Given the description of an element on the screen output the (x, y) to click on. 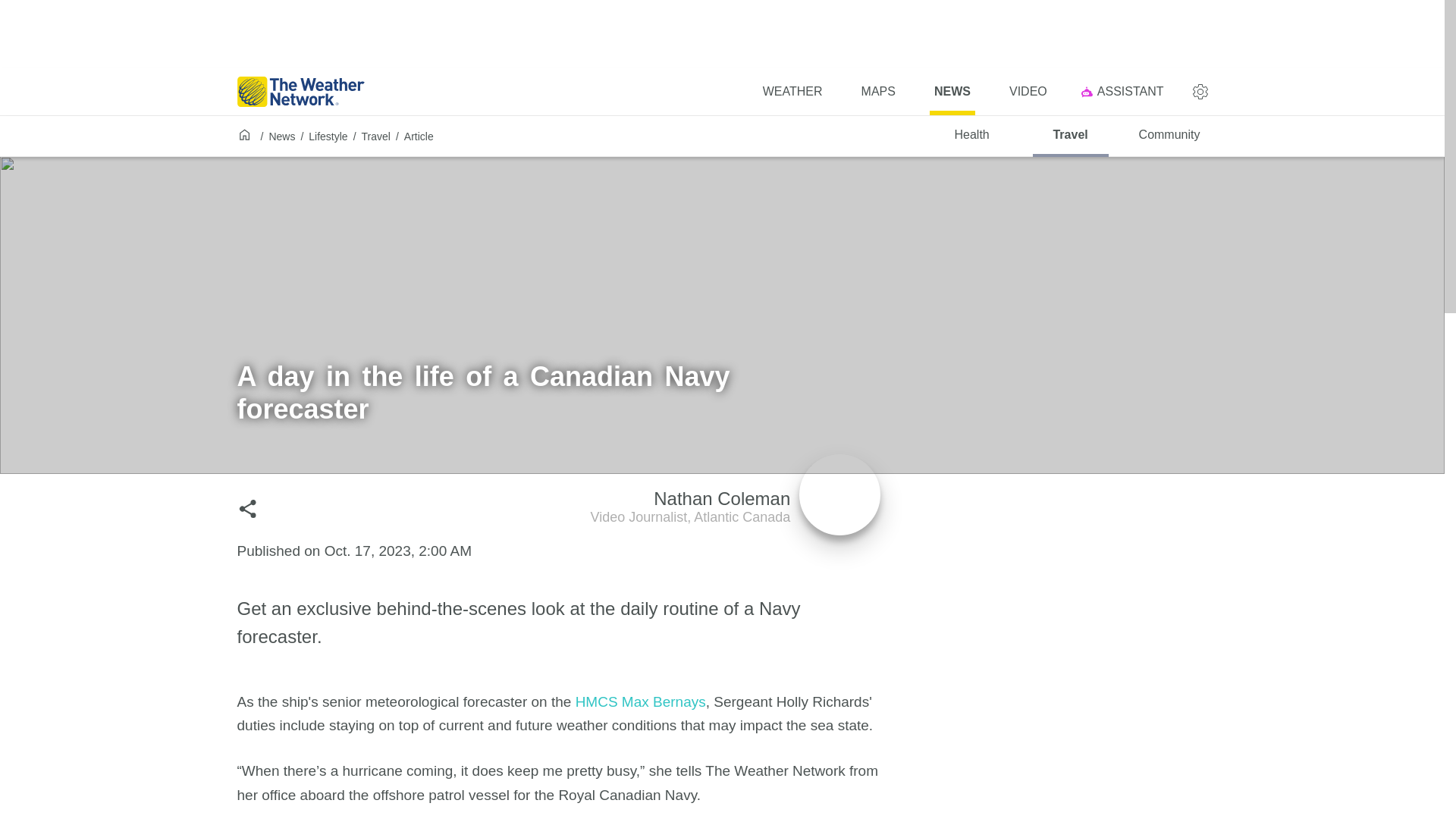
HMCS Max Bernays (640, 701)
Community (1169, 136)
ASSISTANT (1125, 91)
Travel (375, 136)
Travel (1070, 136)
Health (972, 136)
MAPS (878, 91)
VIDEO (1027, 91)
News (281, 136)
NEWS (952, 91)
